Given the description of an element on the screen output the (x, y) to click on. 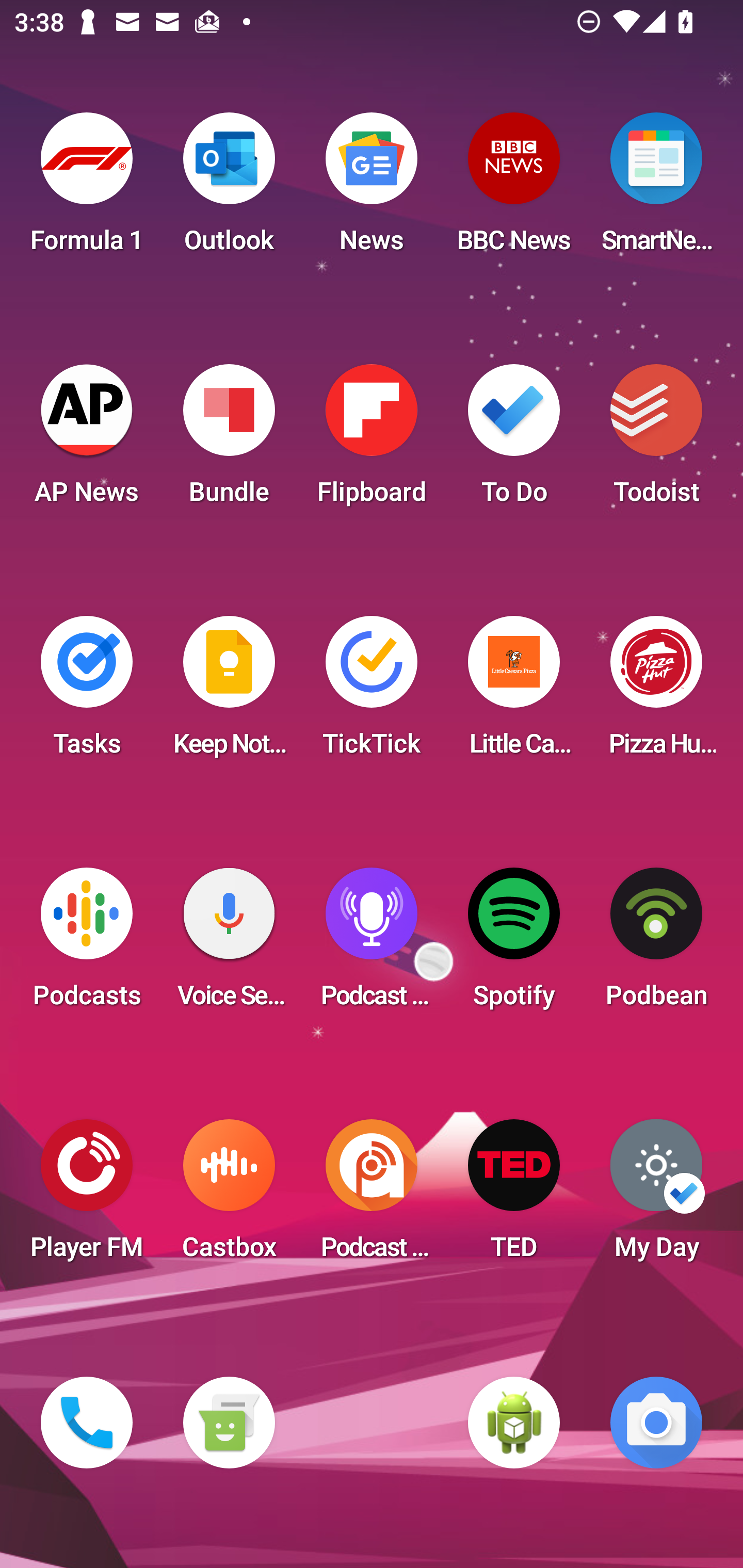
Formula 1 (86, 188)
Outlook (228, 188)
News (371, 188)
BBC News (513, 188)
SmartNews (656, 188)
AP News (86, 440)
Bundle (228, 440)
Flipboard (371, 440)
To Do (513, 440)
Todoist (656, 440)
Tasks (86, 692)
Keep Notes (228, 692)
TickTick (371, 692)
Little Caesars Pizza (513, 692)
Pizza Hut HK & Macau (656, 692)
Podcasts (86, 943)
Voice Search (228, 943)
Podcast Player (371, 943)
Spotify (513, 943)
Podbean (656, 943)
Player FM (86, 1195)
Castbox (228, 1195)
Podcast Addict (371, 1195)
TED (513, 1195)
My Day (656, 1195)
Phone (86, 1422)
Messaging (228, 1422)
WebView Browser Tester (513, 1422)
Camera (656, 1422)
